Given the description of an element on the screen output the (x, y) to click on. 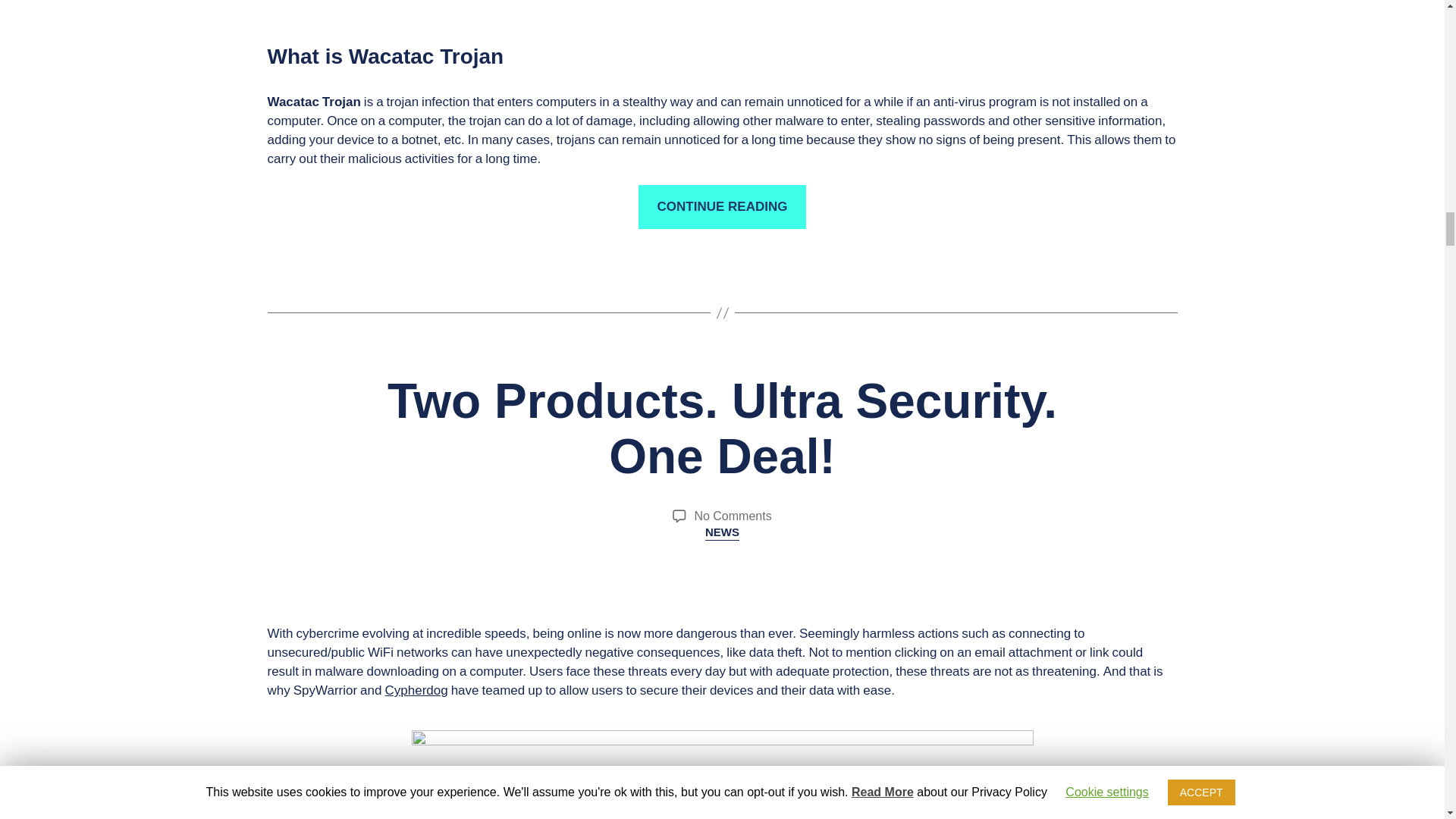
Cypherdog (415, 690)
NEWS (721, 532)
Two Products. Ultra Security. One Deal! (732, 515)
